Given the description of an element on the screen output the (x, y) to click on. 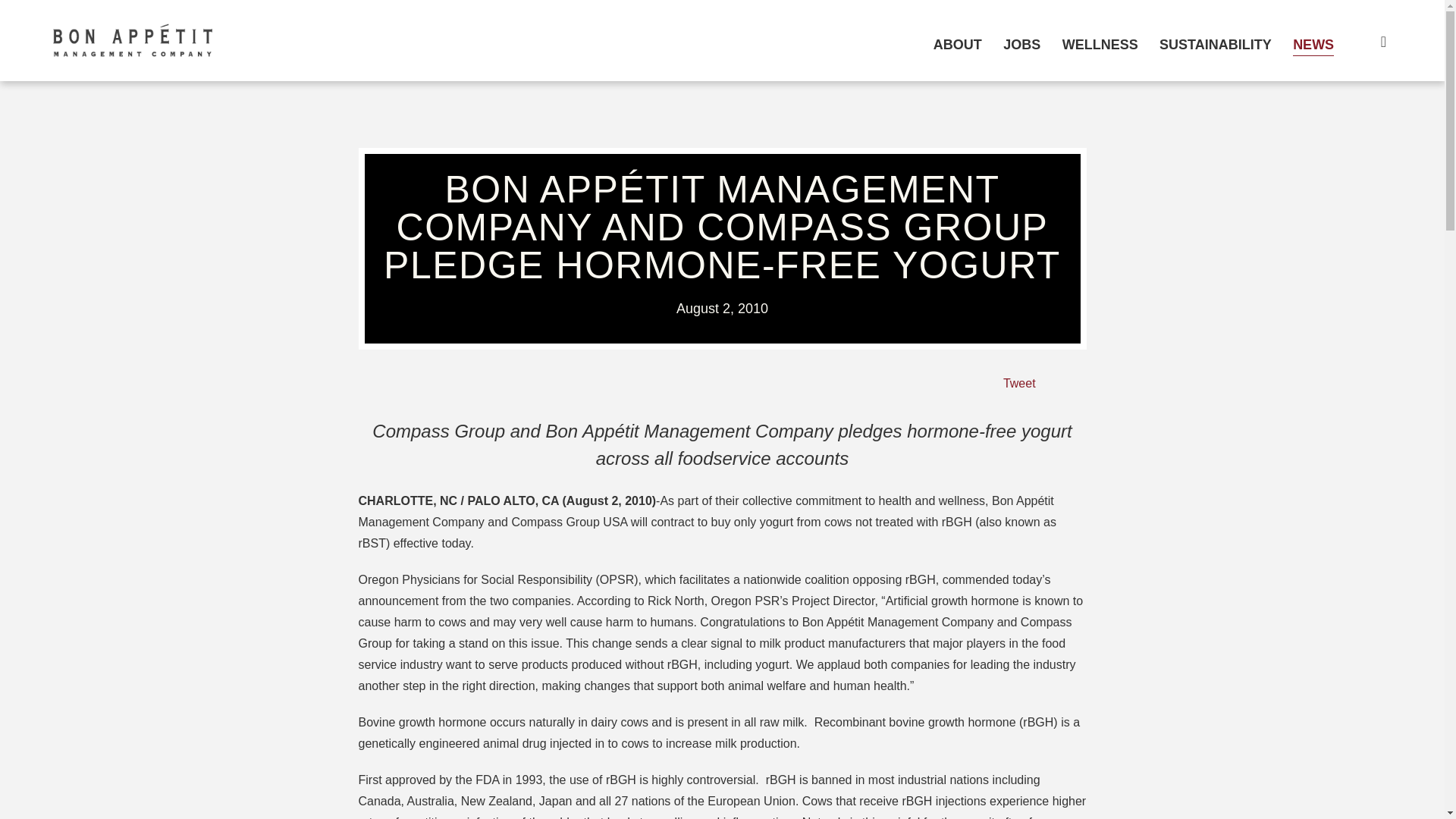
Search (1373, 41)
JOBS (1022, 43)
SUSTAINABILITY (1214, 43)
WELLNESS (1100, 43)
ABOUT (957, 43)
